Given the description of an element on the screen output the (x, y) to click on. 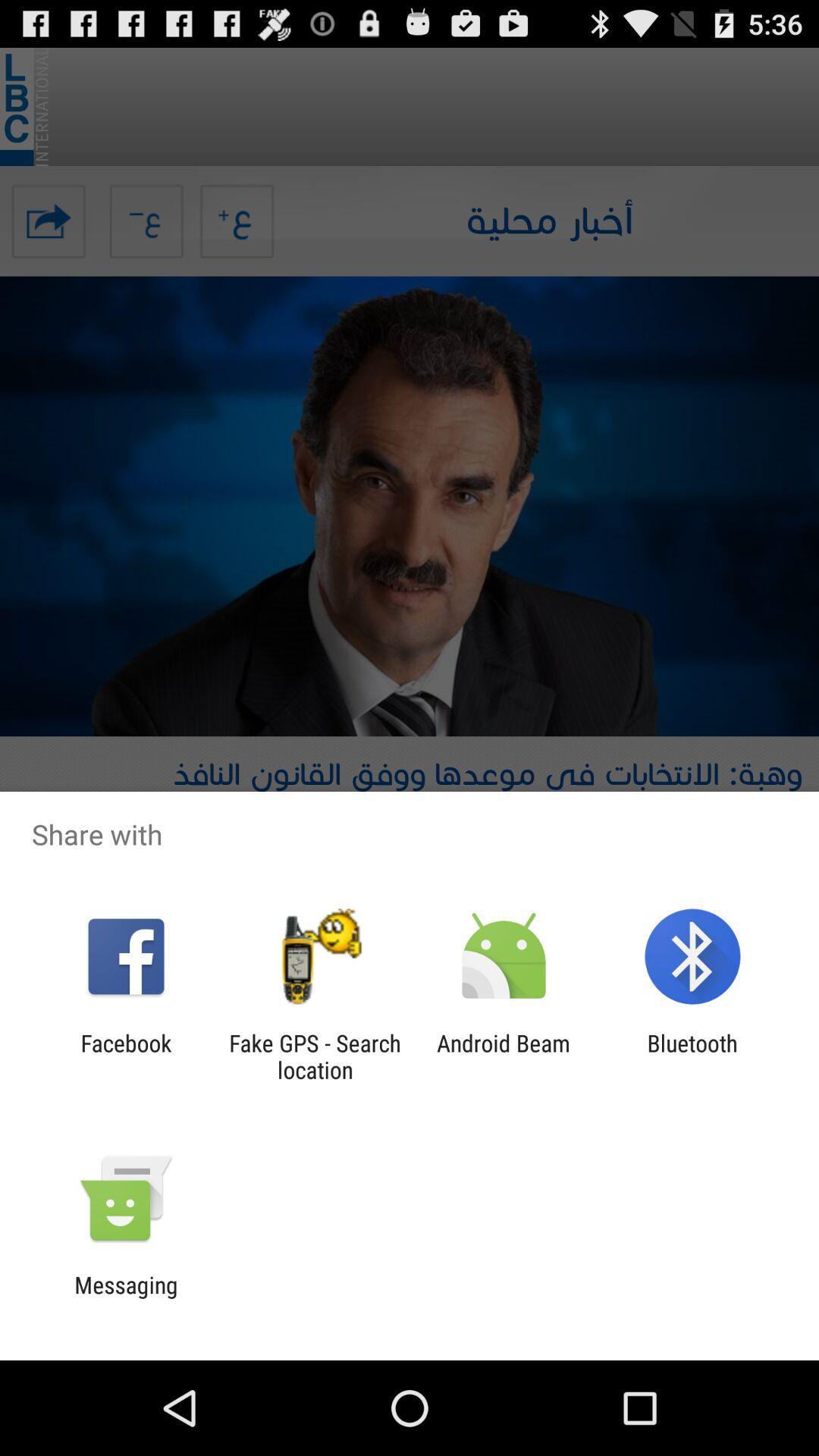
turn off icon at the bottom right corner (692, 1056)
